Given the description of an element on the screen output the (x, y) to click on. 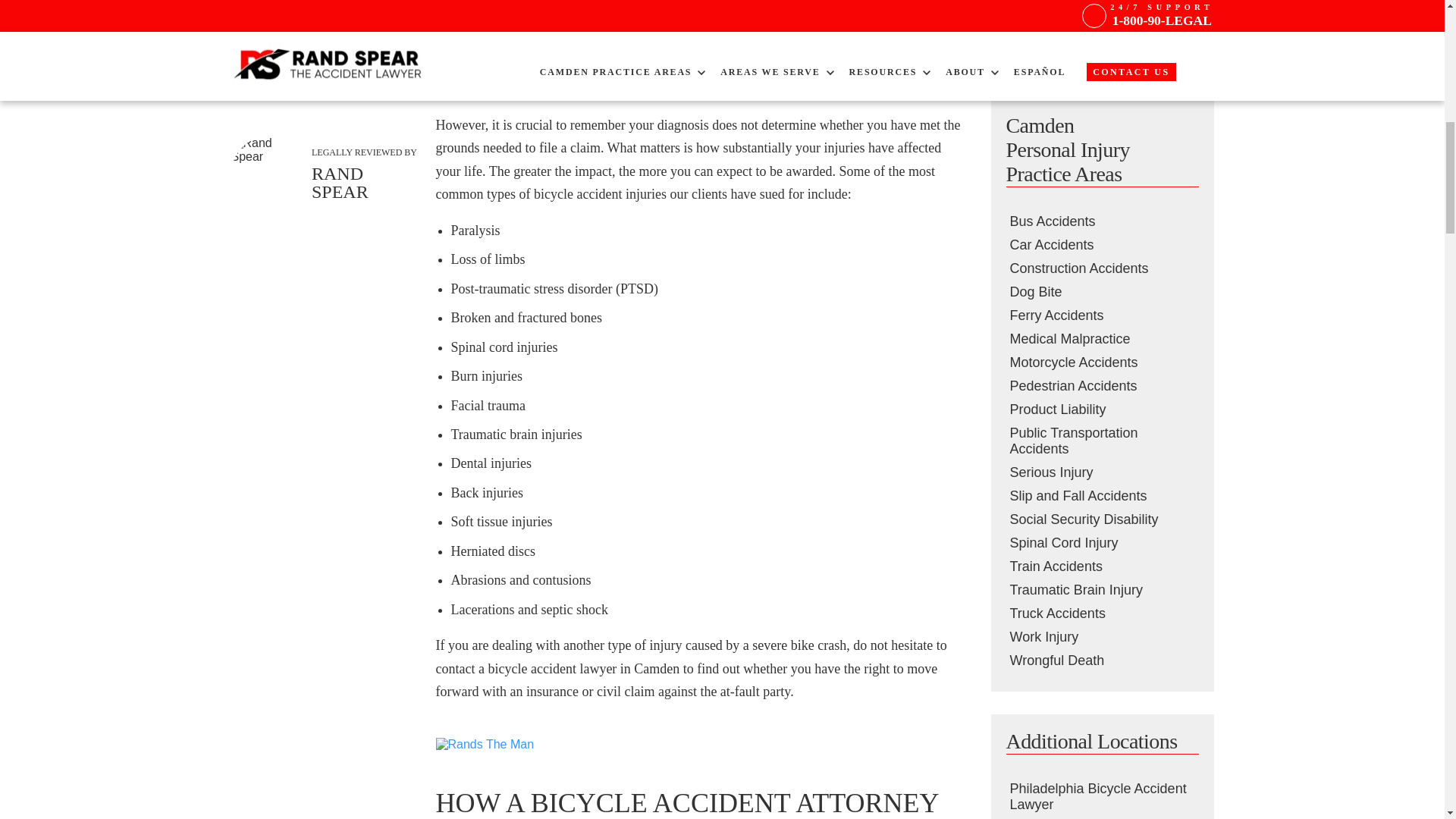
Submit Form (1101, 41)
Rands The Man (484, 744)
HAVE A CASE? (326, 56)
Rand Spear (267, 174)
